Given the description of an element on the screen output the (x, y) to click on. 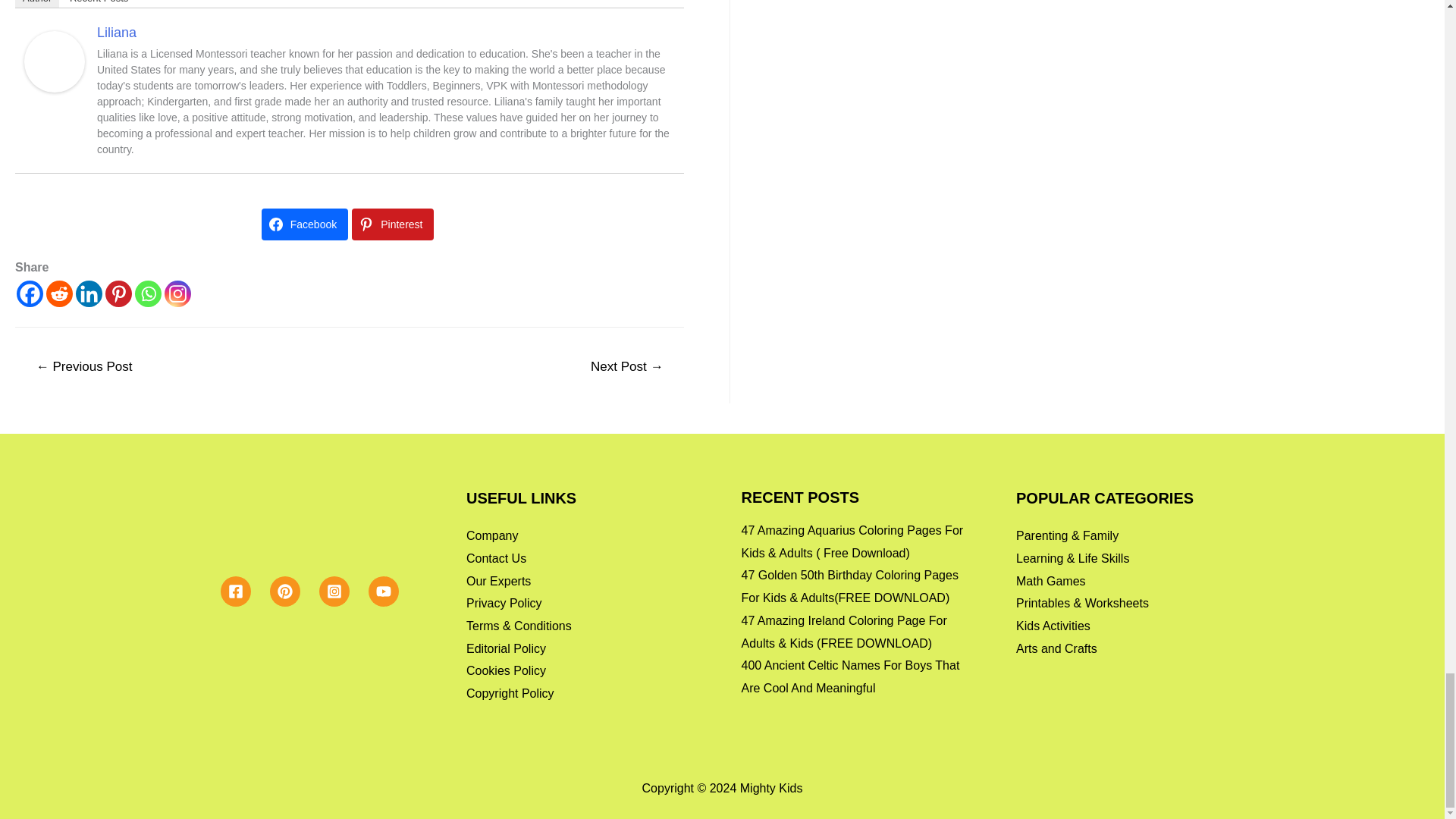
Reddit (59, 293)
Share on Pinterest (392, 224)
Instagram (177, 293)
Pinterest (118, 293)
Facebook (29, 293)
Whatsapp (148, 293)
Share on Facebook (304, 224)
Linkedin (88, 293)
Liliana (54, 60)
